Given the description of an element on the screen output the (x, y) to click on. 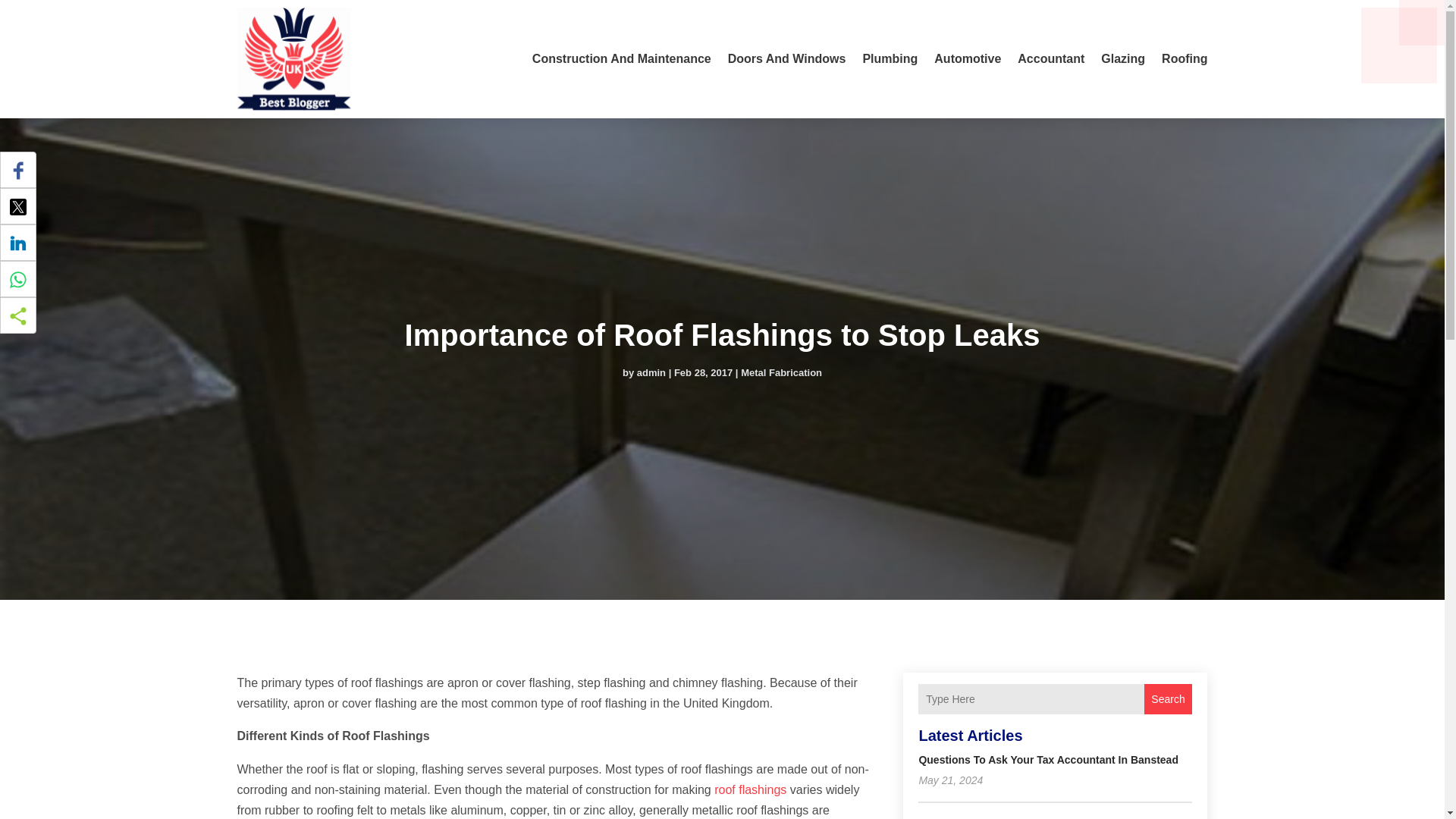
Questions To Ask Your Tax Accountant In Banstead (1047, 759)
roof flashings (750, 789)
Construction And Maintenance (621, 58)
Search (1168, 698)
Doors And Windows (786, 58)
Metal Fabrication (781, 372)
admin (651, 372)
Posts by admin (651, 372)
